Given the description of an element on the screen output the (x, y) to click on. 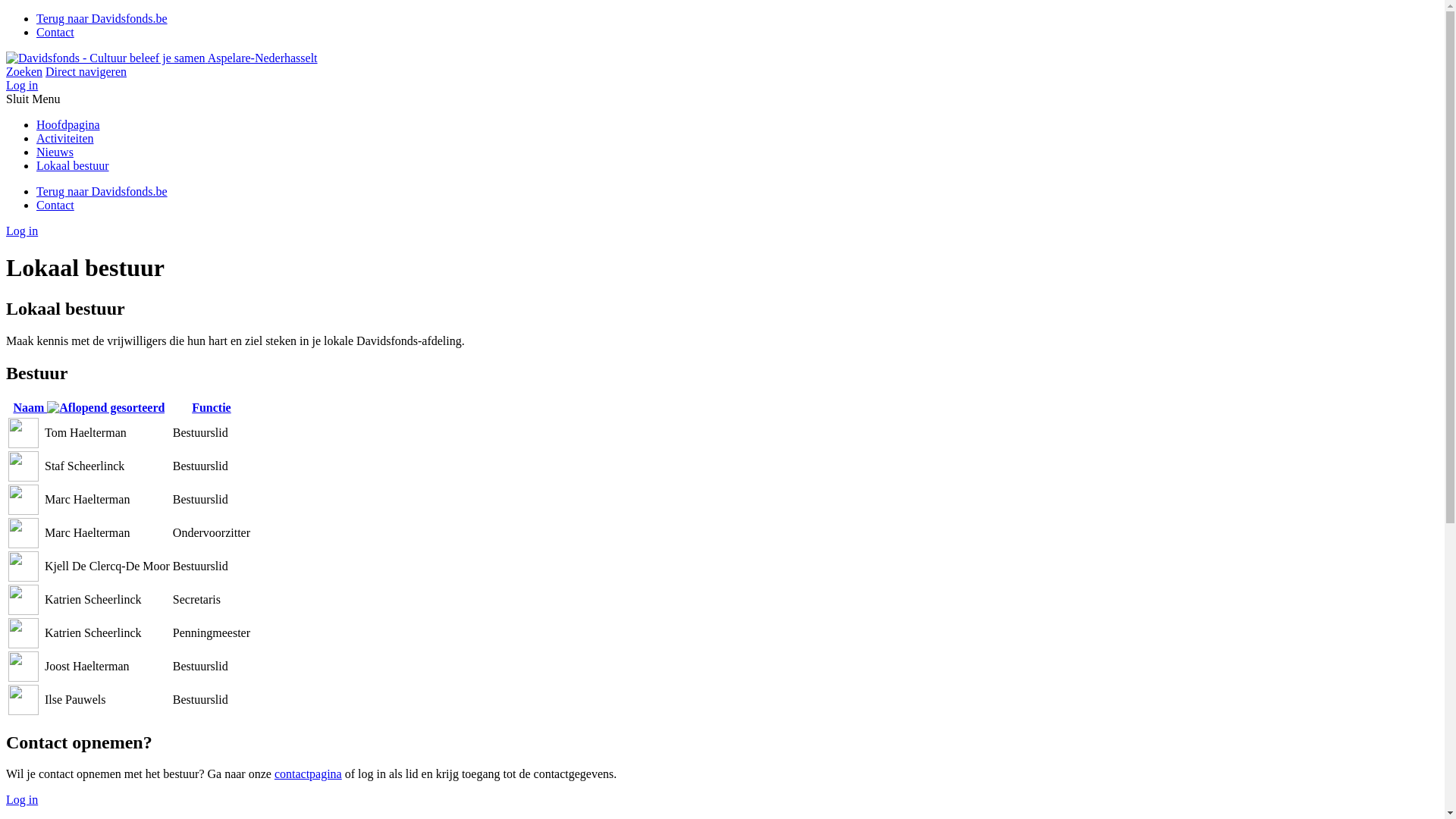
Log in Element type: text (21, 84)
Hoofdpagina Element type: text (68, 124)
Terug naar Davidsfonds.be Element type: text (101, 18)
Contact Element type: text (55, 204)
Terug naar Davidsfonds.be Element type: text (101, 191)
Nieuws Element type: text (54, 151)
Log in Element type: text (21, 799)
Functie Element type: text (211, 407)
Lokaal bestuur Element type: text (72, 165)
Aspelare-Nederhasselt Element type: text (161, 57)
Zoeken Element type: text (24, 71)
Aflopend gesorteerd Element type: hover (105, 407)
contactpagina Element type: text (308, 773)
Naam Element type: text (88, 407)
Activiteiten Element type: text (65, 137)
Contact Element type: text (55, 31)
Log in Element type: text (21, 230)
Direct navigeren Element type: text (85, 71)
